Given the description of an element on the screen output the (x, y) to click on. 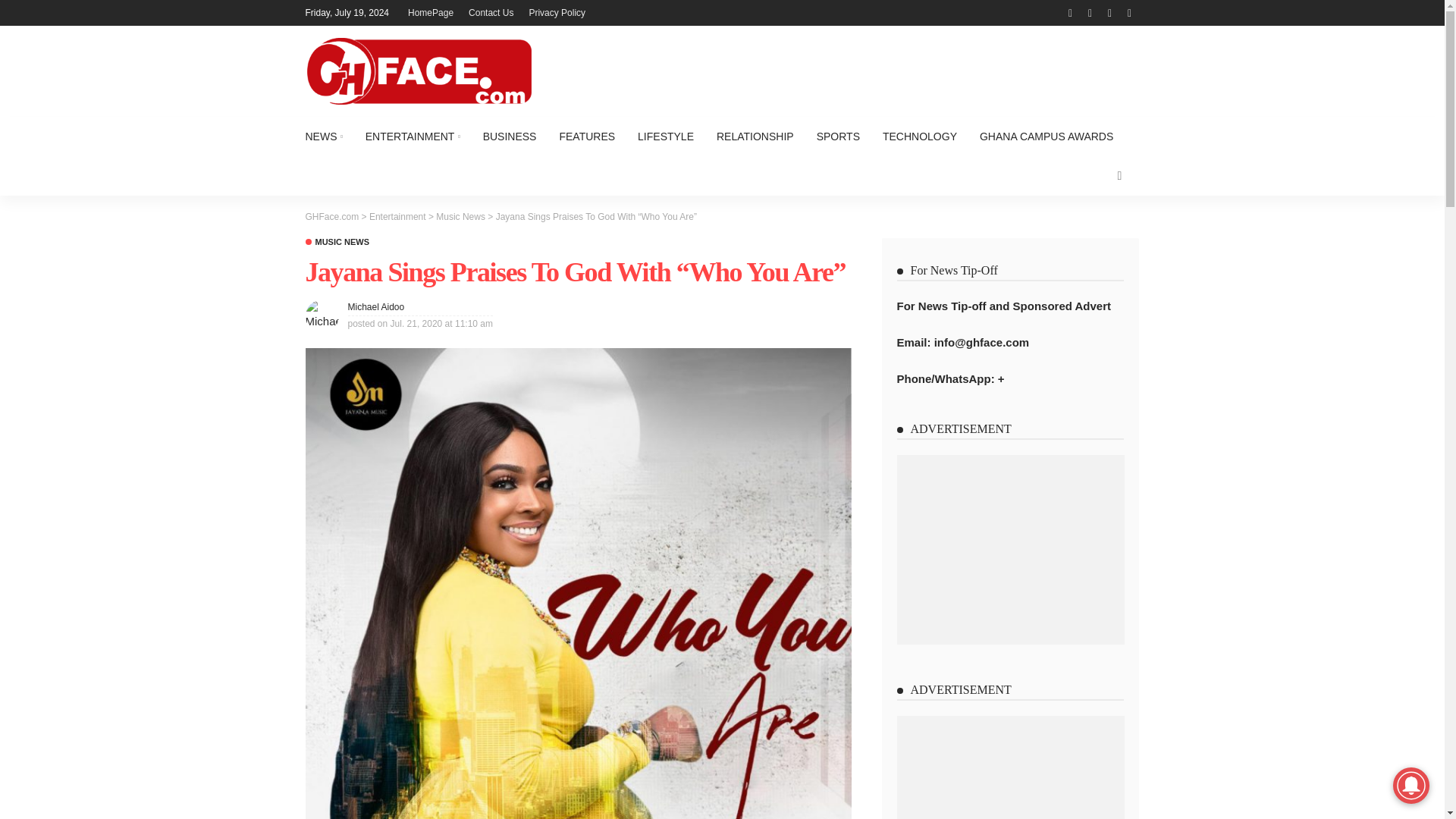
Contact Us (491, 12)
TECHNOLOGY (919, 136)
Privacy Policy (556, 12)
Music News (336, 242)
HomePage (430, 12)
Michael Aidoo (375, 306)
RELATIONSHIP (754, 136)
Music News (459, 216)
search (1118, 175)
LIFESTYLE (665, 136)
NEWS (328, 136)
SPORTS (837, 136)
Go to the Music News Category archives. (459, 216)
GHANA CAMPUS AWARDS (1046, 136)
Go to the Entertainment Category archives. (397, 216)
